Given the description of an element on the screen output the (x, y) to click on. 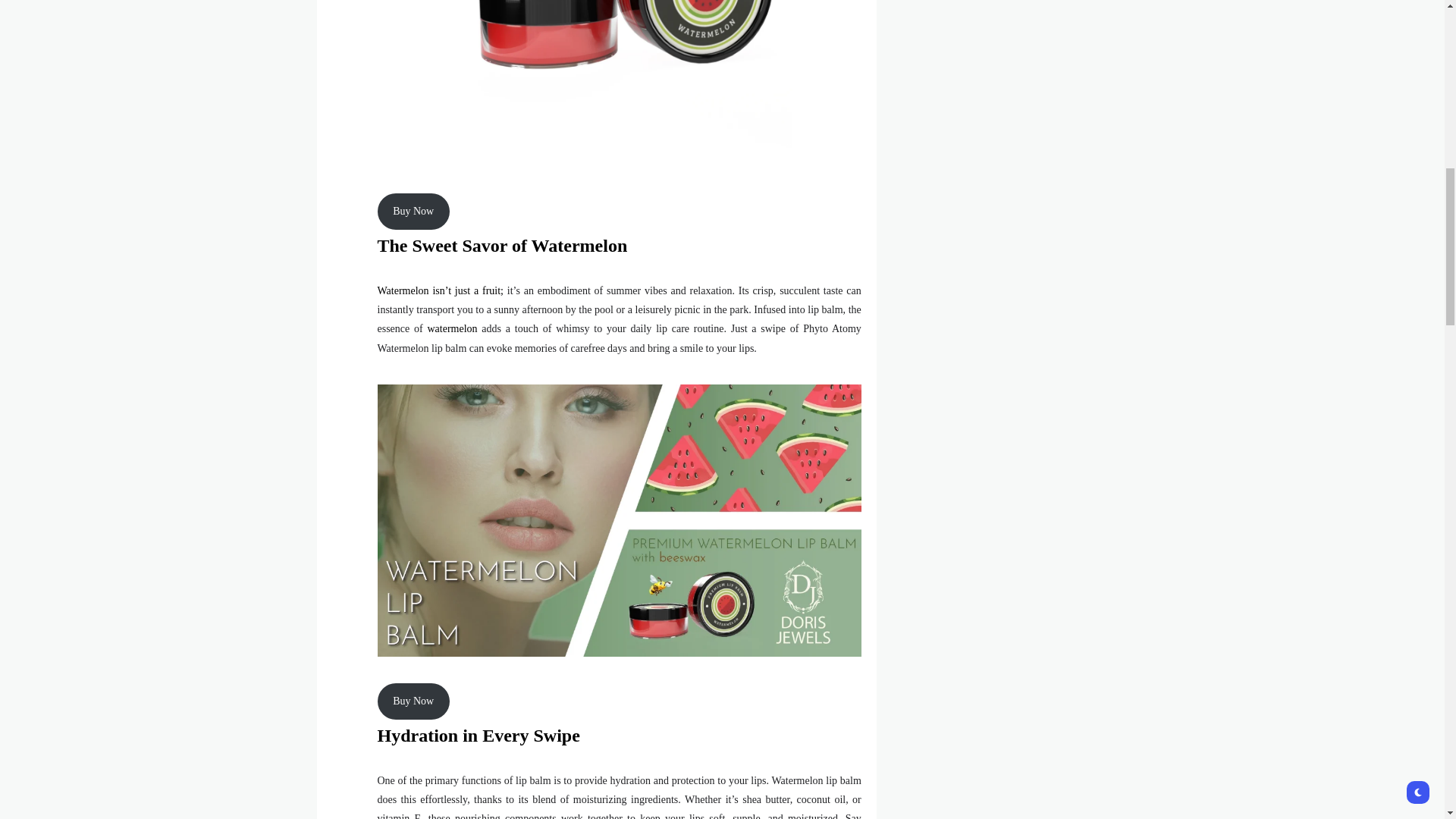
Buy Now (413, 211)
Buy Now (413, 701)
The Sweet Savor of Watermelon (502, 245)
watermelon (453, 328)
Hydration in Every Swipe (478, 735)
